Given the description of an element on the screen output the (x, y) to click on. 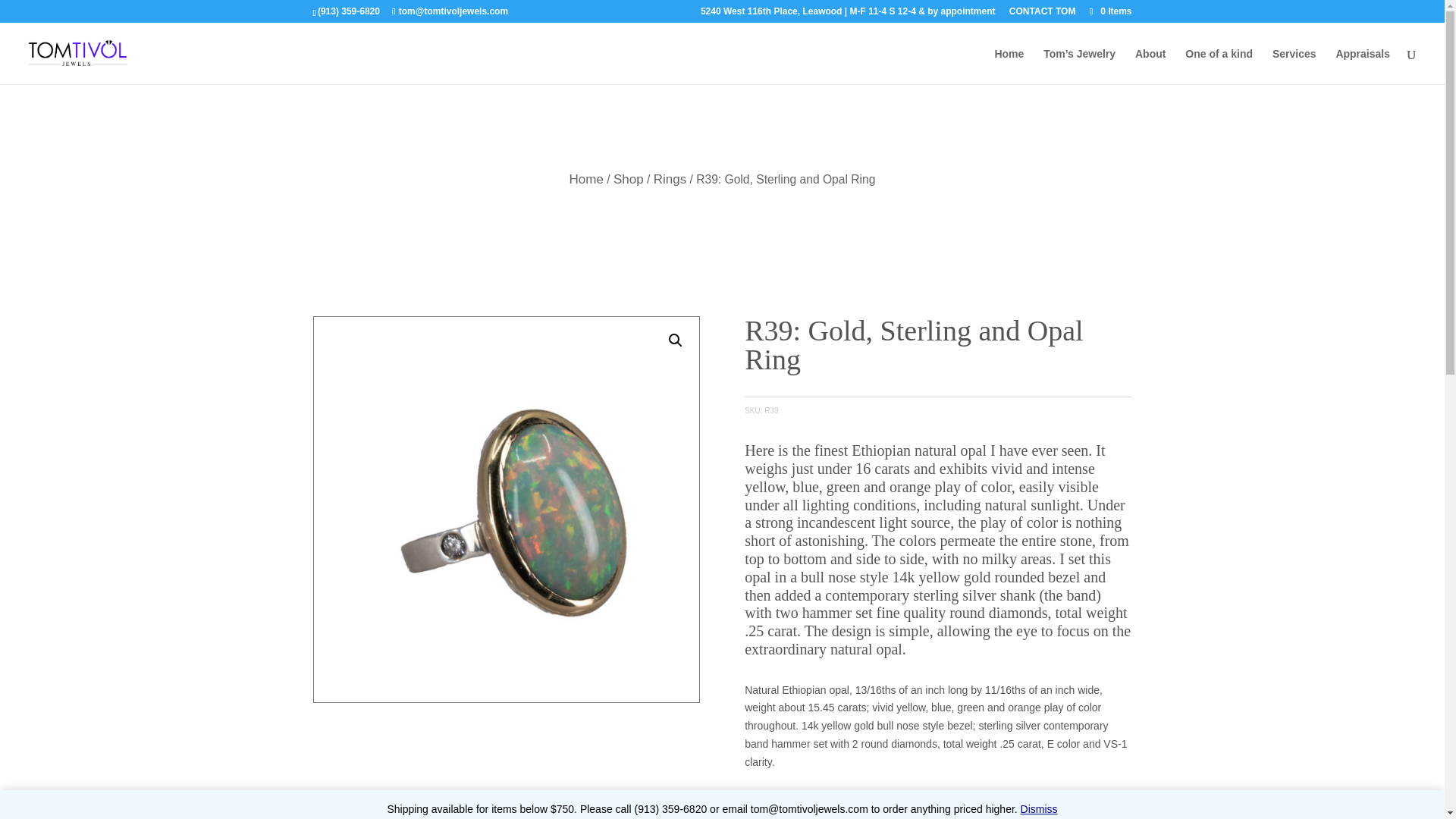
Services (1294, 66)
Rings (669, 178)
Shop (627, 178)
0 Items (1108, 10)
Home (586, 178)
One of a kind (1218, 66)
Appraisals (1362, 66)
CONTACT TOM (1042, 14)
